Given the description of an element on the screen output the (x, y) to click on. 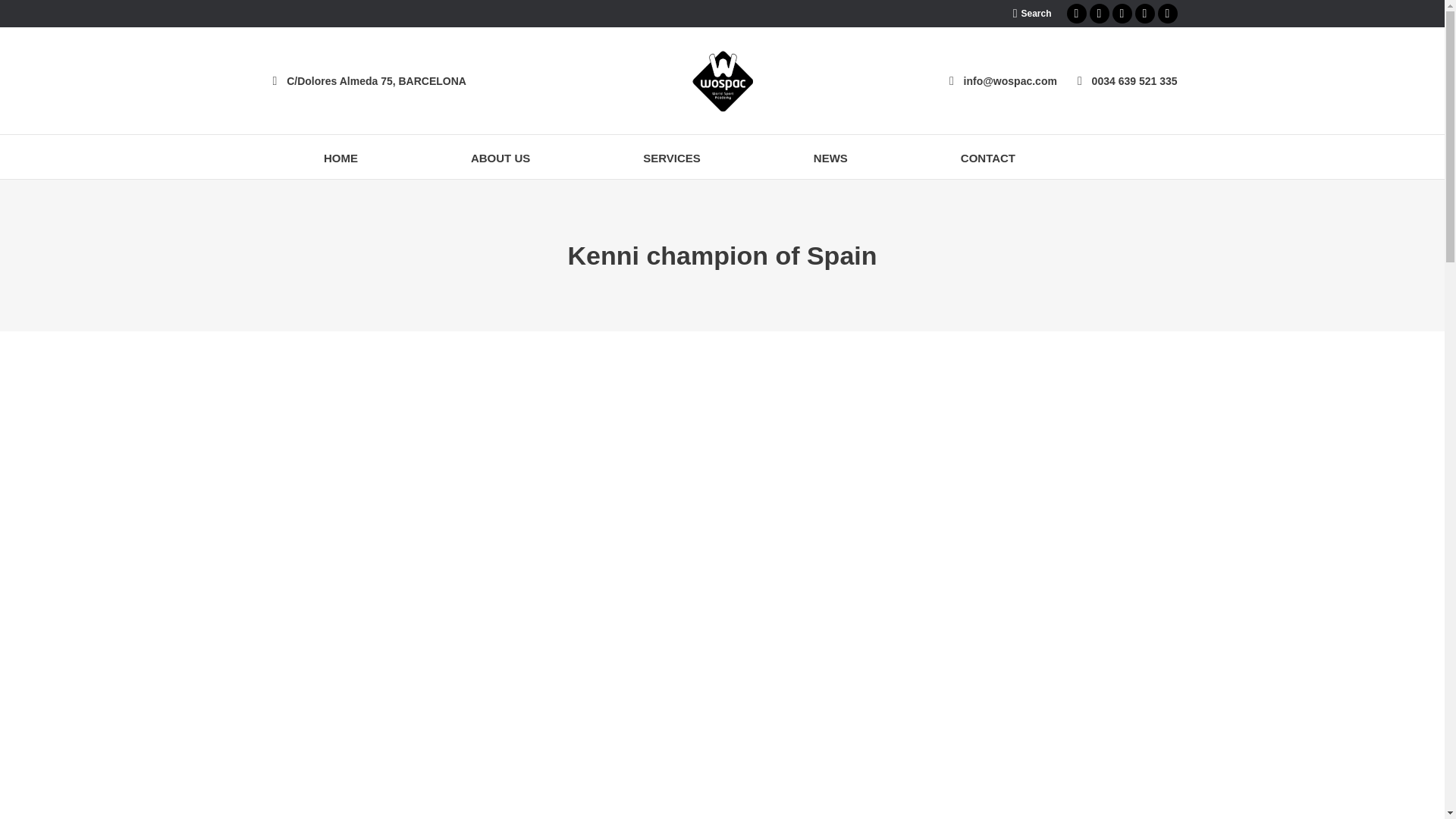
Linkedin page opens in new window (1144, 13)
Facebook page opens in new window (1075, 13)
Twitter page opens in new window (1098, 13)
Facebook page opens in new window (1075, 13)
HOME (339, 157)
Instagram page opens in new window (1121, 13)
SERVICES (671, 157)
Search (1032, 13)
Instagram page opens in new window (1121, 13)
Go! (23, 15)
ABOUT US (499, 157)
NEWS (830, 157)
YouTube page opens in new window (1166, 13)
YouTube page opens in new window (1166, 13)
CONTACT (987, 157)
